Given the description of an element on the screen output the (x, y) to click on. 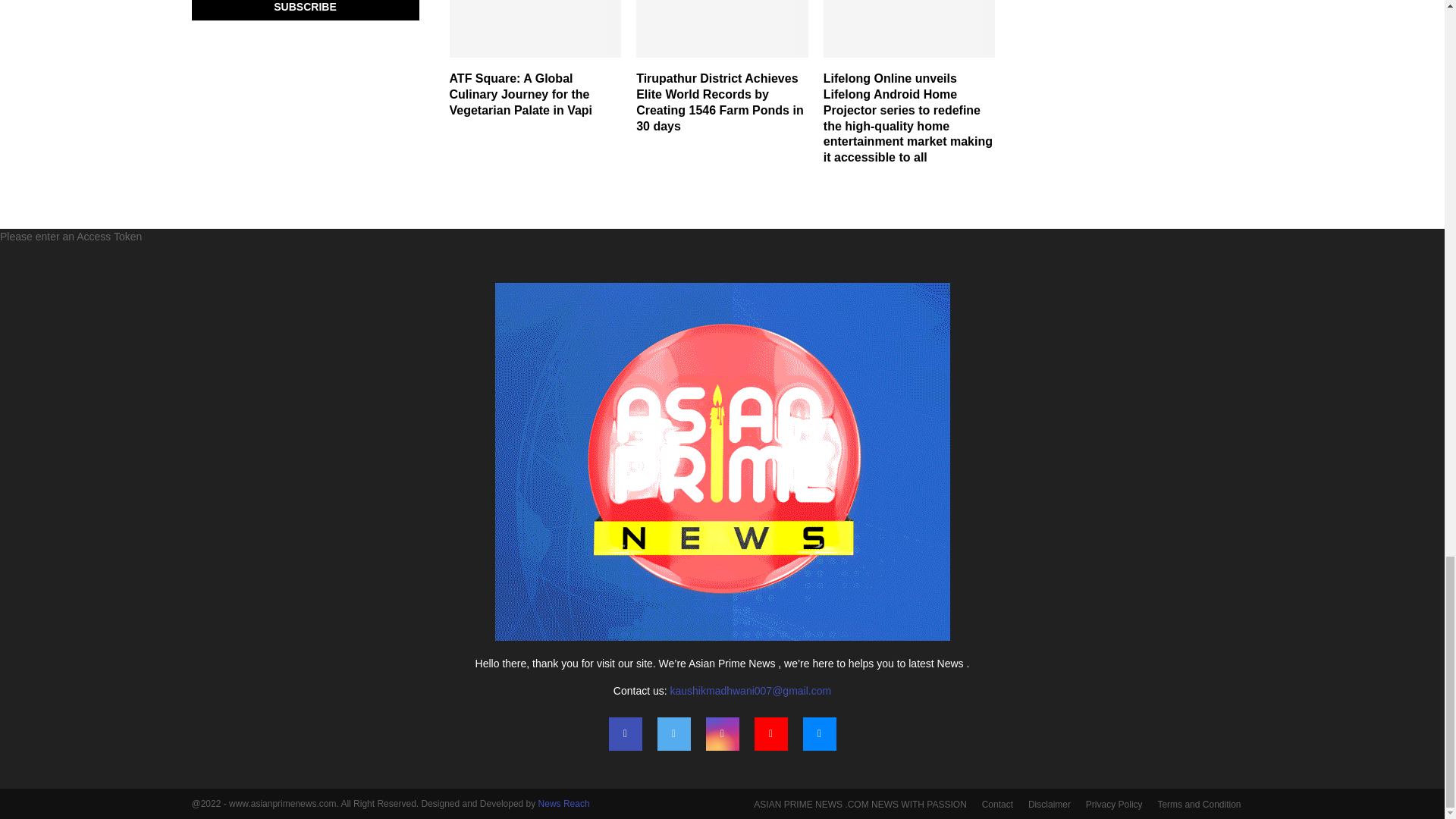
Subscribe (304, 10)
